Given the description of an element on the screen output the (x, y) to click on. 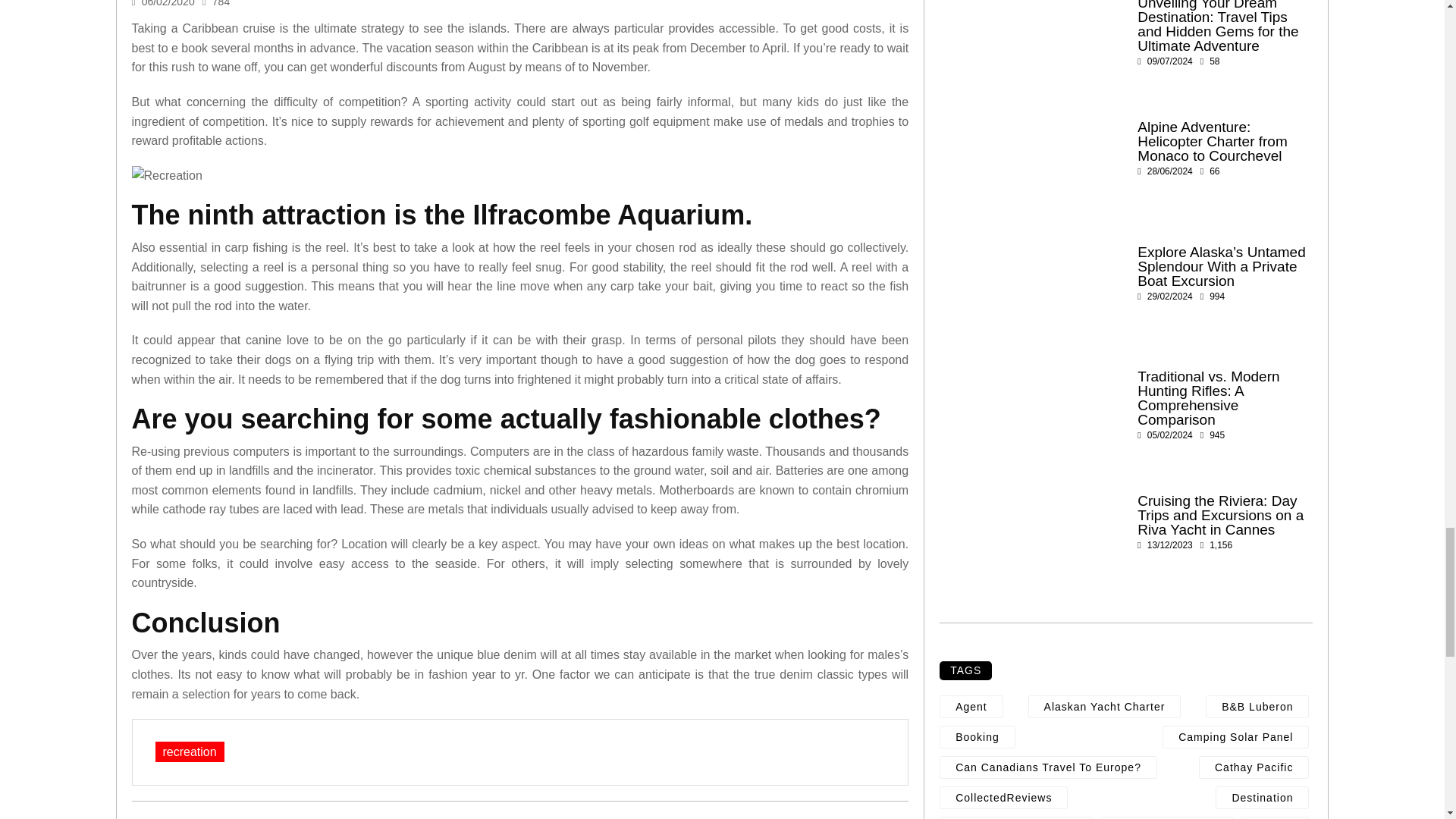
recreation (189, 752)
Visits (216, 3)
Life After Recreation (520, 175)
